Given the description of an element on the screen output the (x, y) to click on. 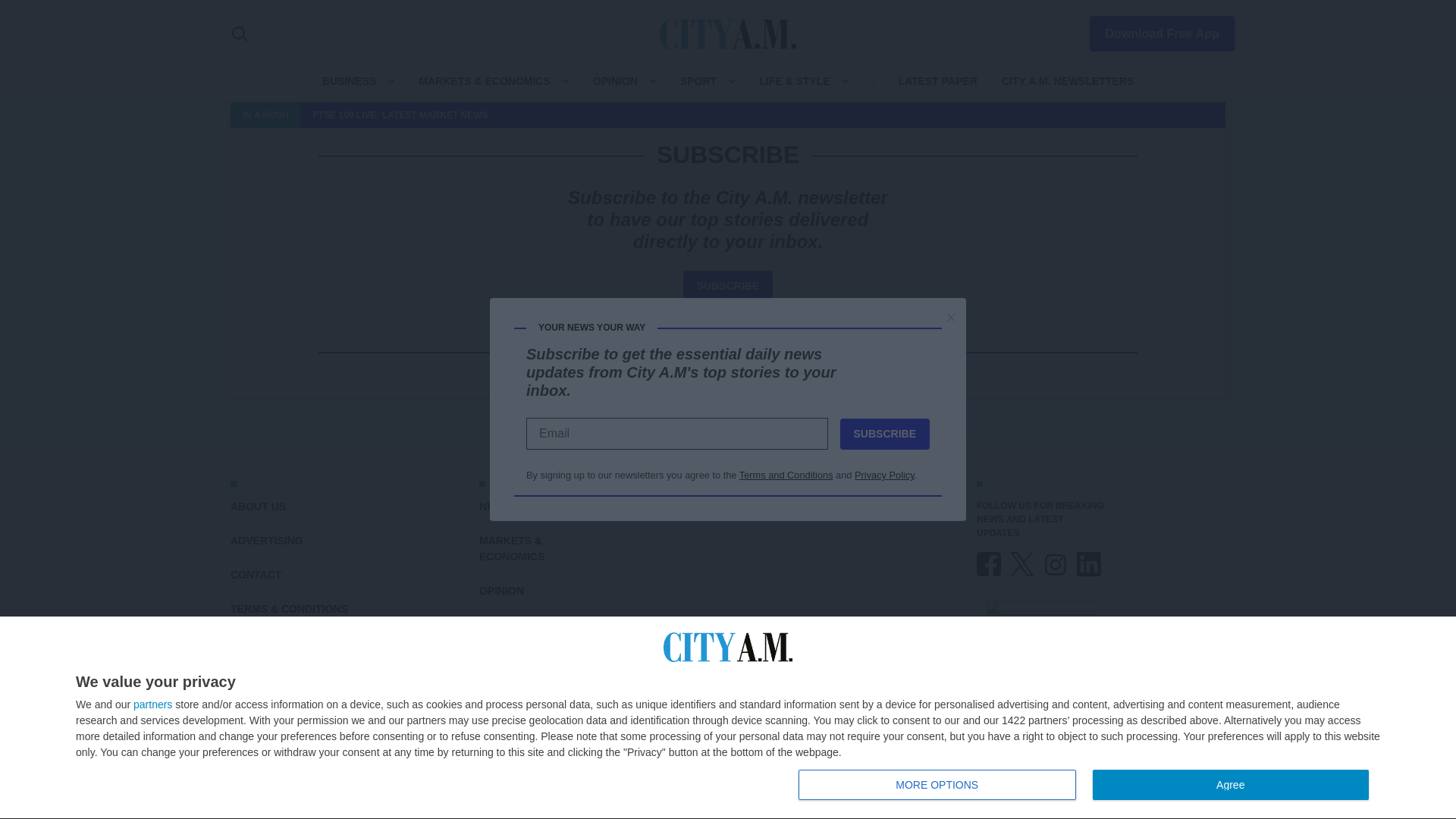
INSTAGRAM (1055, 564)
X (1021, 564)
FACEBOOK (988, 564)
LINKEDIN (1088, 564)
